Given the description of an element on the screen output the (x, y) to click on. 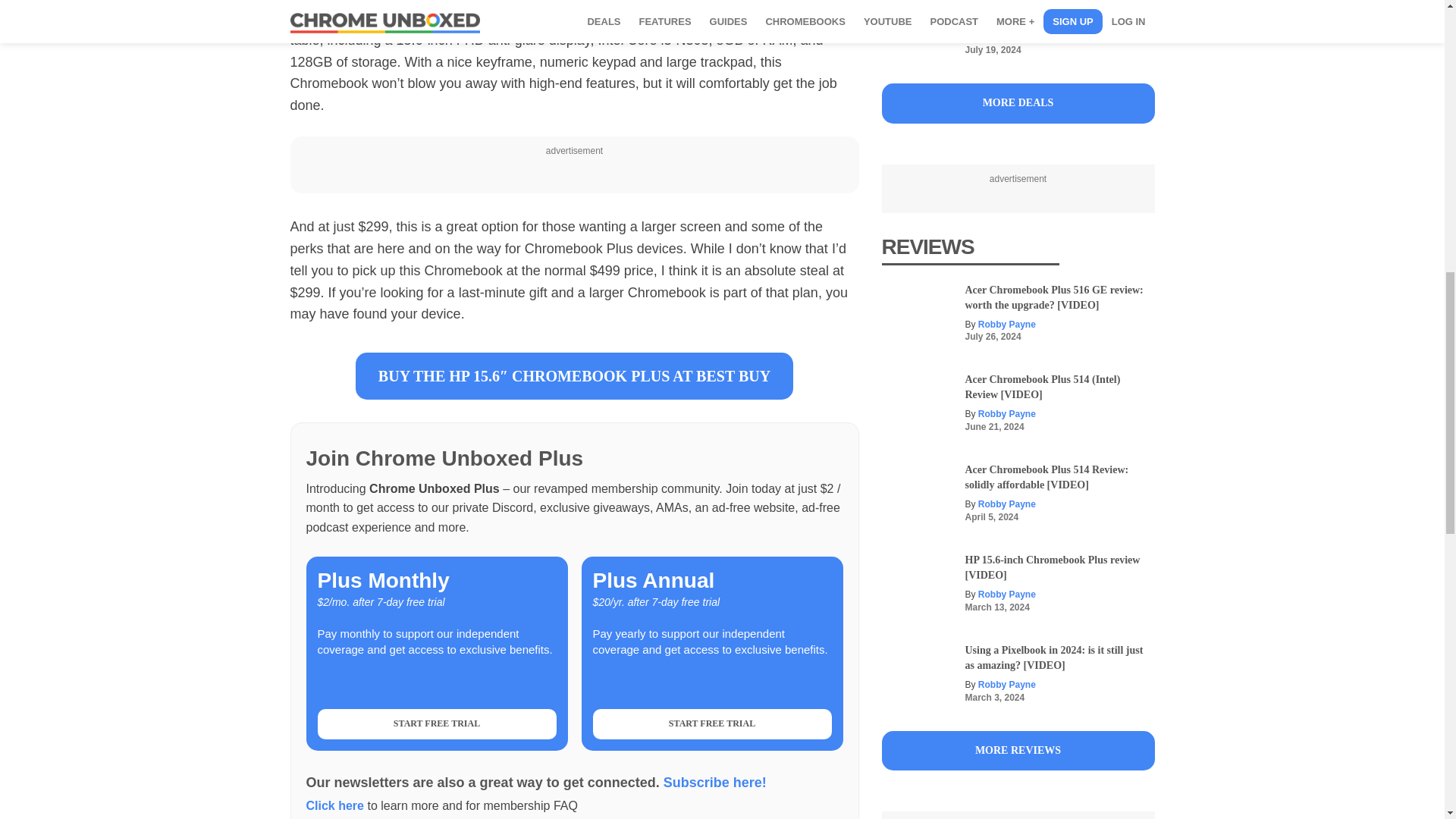
Deals (1017, 102)
Reviews (1017, 750)
